Given the description of an element on the screen output the (x, y) to click on. 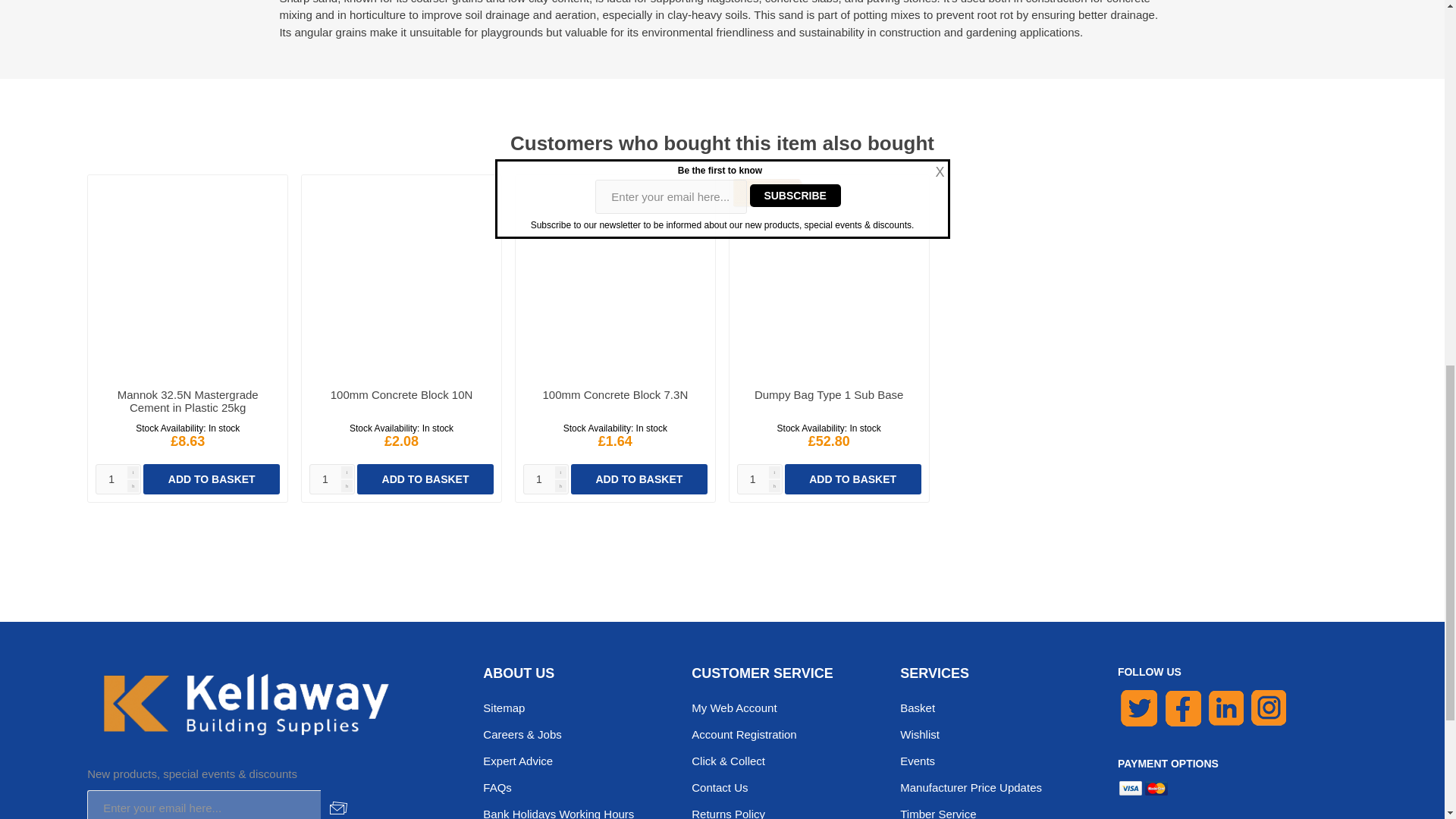
Add to basket (638, 479)
Add to basket (210, 479)
1 (331, 479)
Add to basket (852, 479)
Add to basket (424, 479)
1 (118, 479)
1 (545, 479)
Subscribe (338, 804)
1 (759, 479)
